Given the description of an element on the screen output the (x, y) to click on. 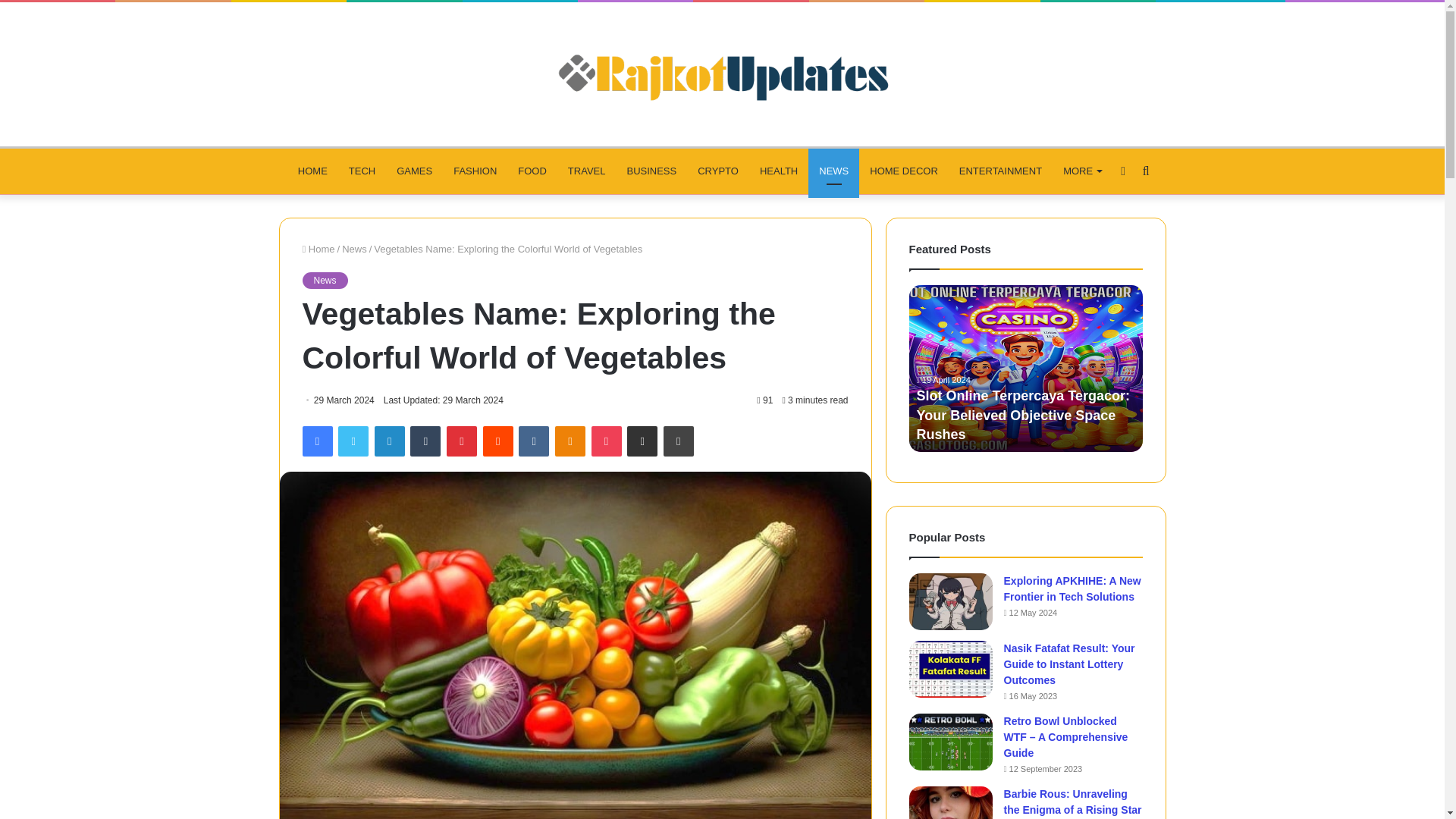
Tumblr (425, 440)
Reddit (498, 440)
VKontakte (533, 440)
LinkedIn (389, 440)
Pocket (606, 440)
Pinterest (461, 440)
ENTERTAINMENT (1000, 171)
Twitter (352, 440)
Home (317, 248)
FOOD (531, 171)
LinkedIn (389, 440)
News (324, 280)
FASHION (474, 171)
rajkotupdates.com (721, 74)
MORE (1082, 171)
